Given the description of an element on the screen output the (x, y) to click on. 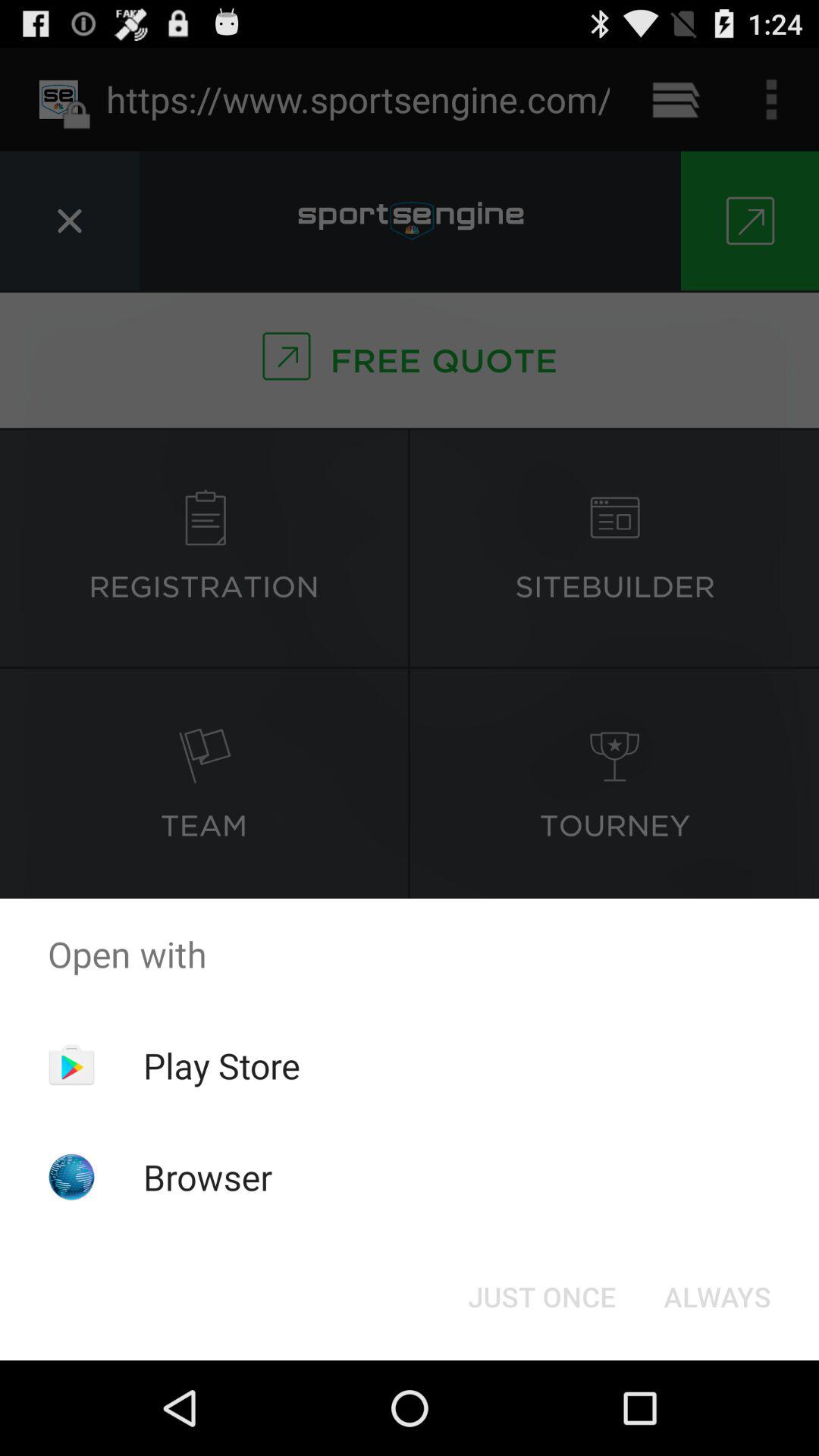
turn off the item below play store app (207, 1176)
